Given the description of an element on the screen output the (x, y) to click on. 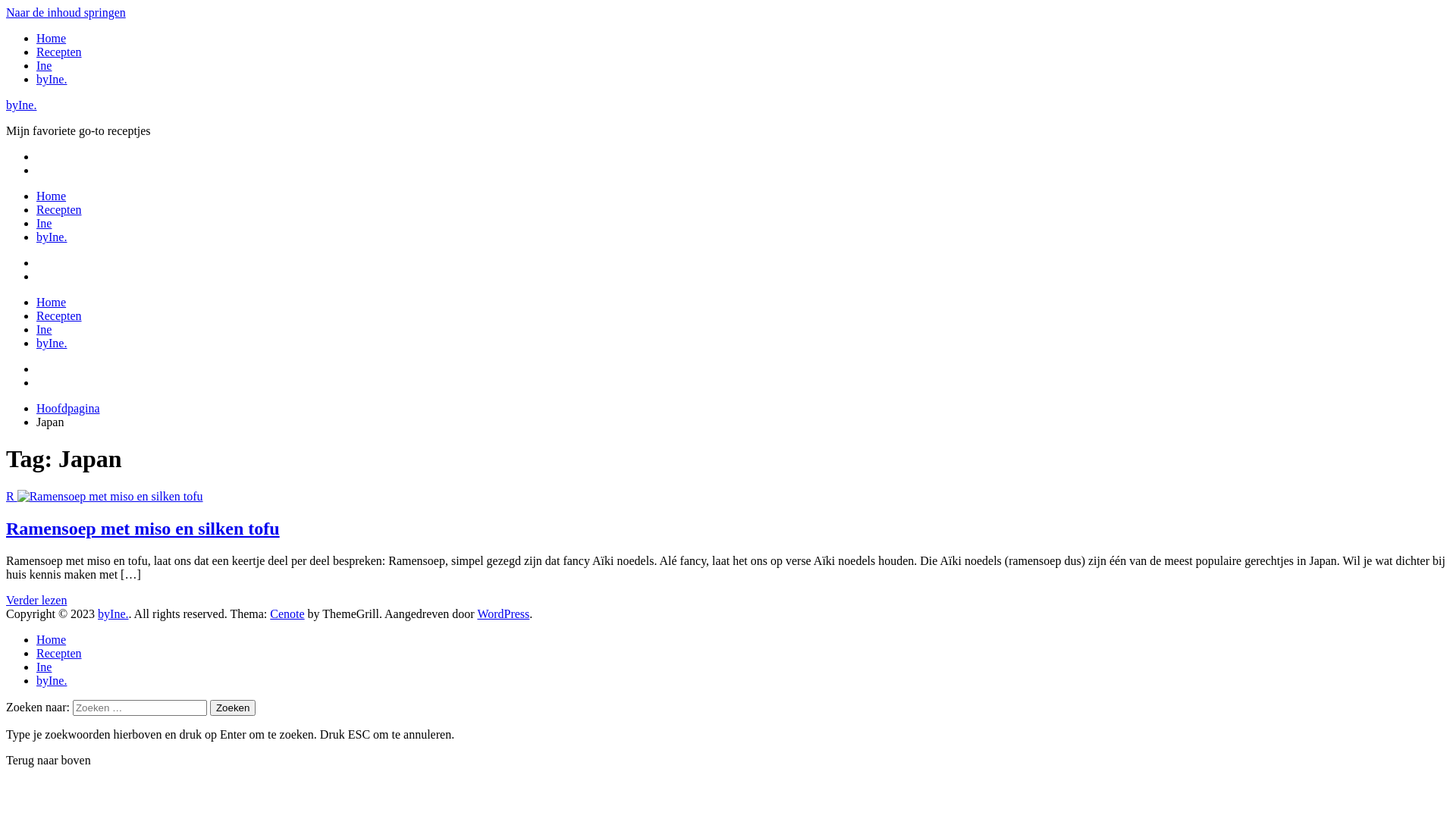
byIne. Element type: text (51, 680)
Ine Element type: text (43, 329)
Home Element type: text (50, 37)
Home Element type: text (50, 195)
Hoofdpagina Element type: text (68, 407)
byIne. Element type: text (51, 236)
WordPress Element type: text (502, 613)
Ramensoep met miso en silken tofu Element type: text (142, 528)
Zoeken Element type: text (232, 707)
Recepten Element type: text (58, 209)
Recepten Element type: text (58, 51)
byIne. Element type: text (112, 613)
R Element type: text (104, 495)
Home Element type: text (50, 639)
byIne. Element type: text (51, 342)
byIne. Element type: text (51, 78)
Recepten Element type: text (58, 315)
Home Element type: text (50, 301)
Ine Element type: text (43, 666)
Verder lezen Element type: text (36, 599)
byIne. Element type: text (21, 104)
Naar de inhoud springen Element type: text (65, 12)
Ine Element type: text (43, 222)
Cenote Element type: text (286, 613)
Ine Element type: text (43, 65)
Recepten Element type: text (58, 652)
